Given the description of an element on the screen output the (x, y) to click on. 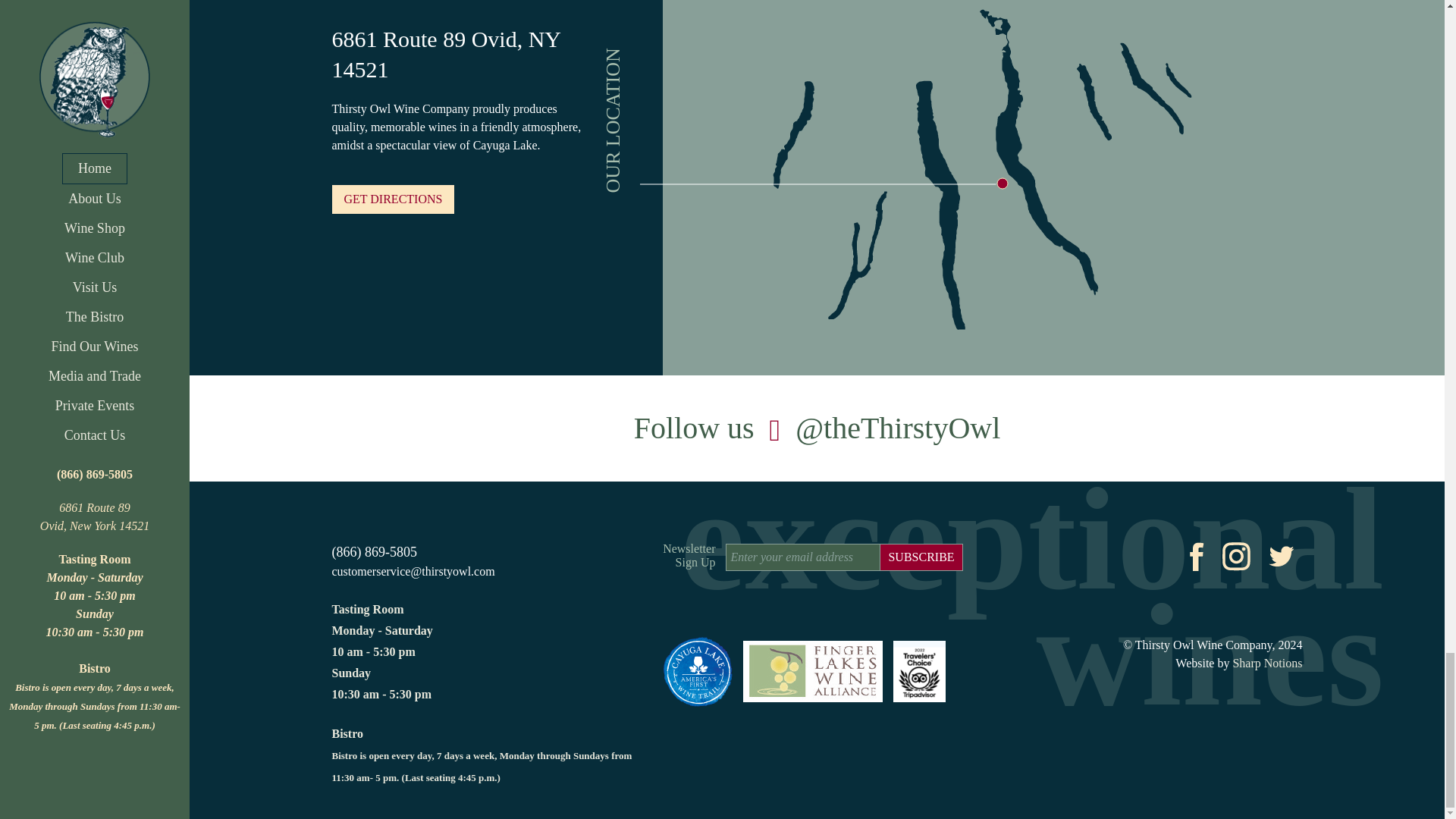
GET DIRECTIONS (392, 199)
Sharp Notions (1266, 662)
Subscribe (920, 556)
SUBSCRIBE (920, 556)
